Given the description of an element on the screen output the (x, y) to click on. 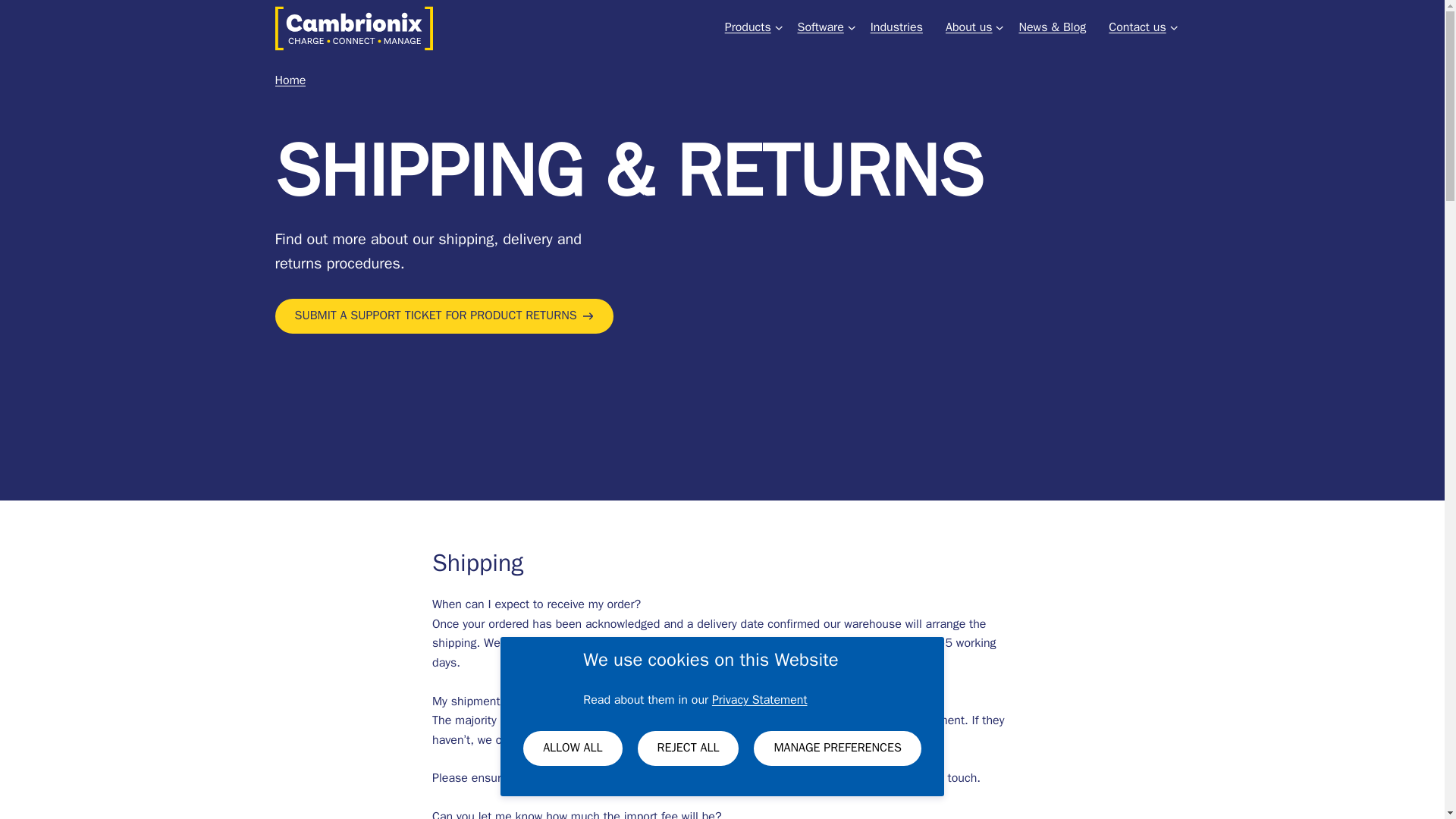
Home (290, 79)
Products (748, 27)
About us (968, 27)
REJECT ALL (688, 748)
MANAGE PREFERENCES (837, 748)
Industries (896, 27)
Privacy Statement (759, 699)
Contact us (1137, 27)
Software (820, 27)
